Given the description of an element on the screen output the (x, y) to click on. 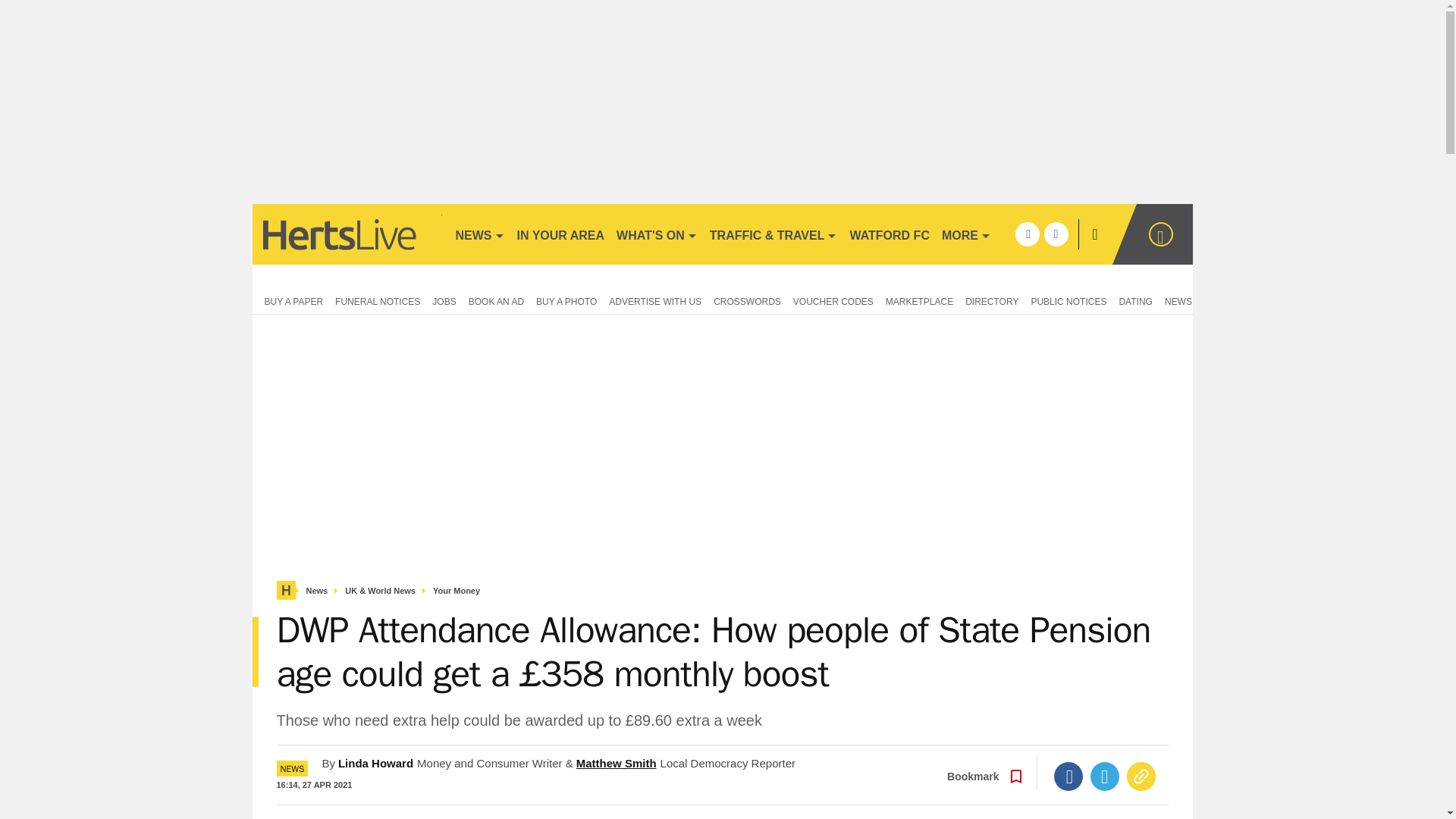
NEWS (479, 233)
hertfordshiremercury (346, 233)
WATFORD FC (888, 233)
Twitter (1104, 776)
WHAT'S ON (656, 233)
twitter (1055, 233)
MORE (966, 233)
IN YOUR AREA (561, 233)
facebook (1026, 233)
Facebook (1068, 776)
